Given the description of an element on the screen output the (x, y) to click on. 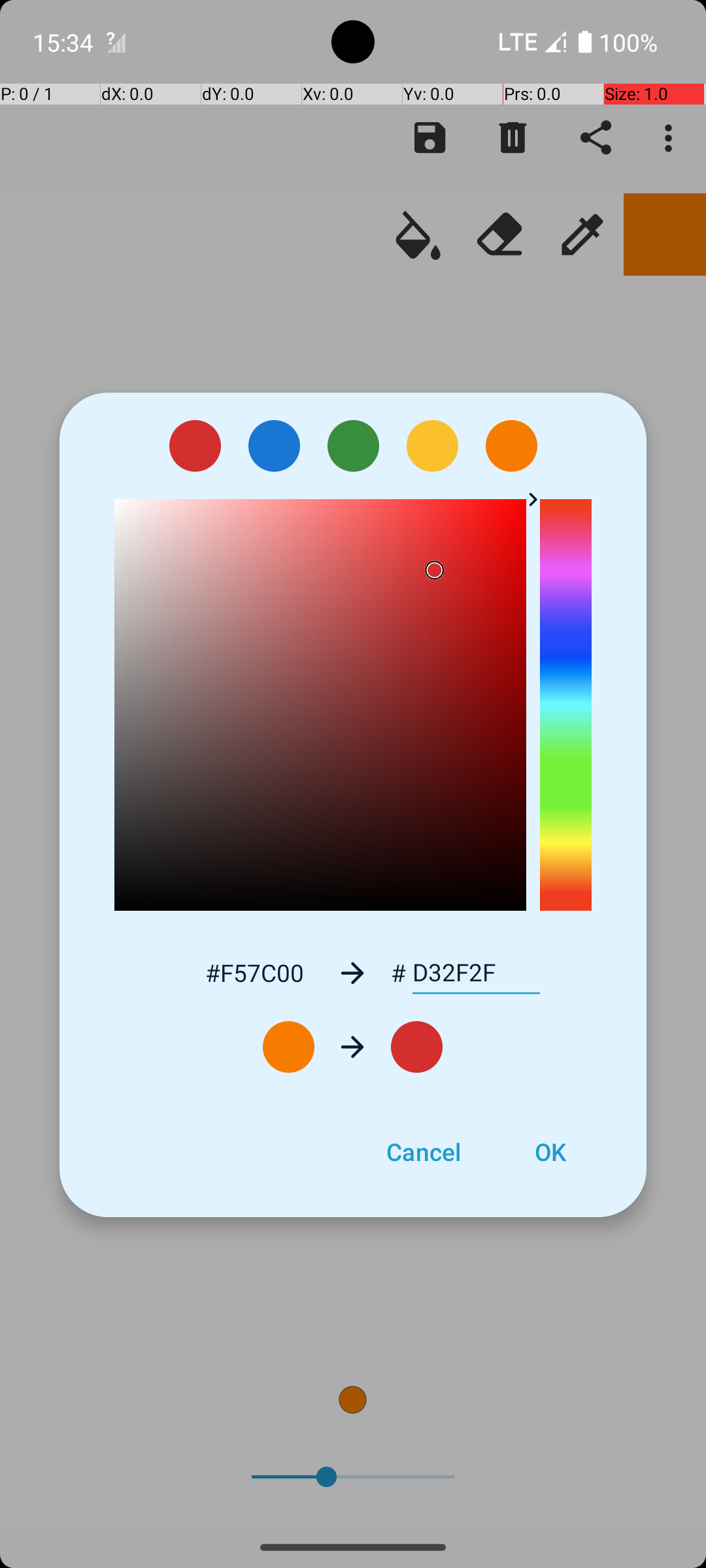
#F57C00 Element type: android.widget.TextView (254, 972)
D32F2F Element type: android.widget.EditText (475, 972)
